Given the description of an element on the screen output the (x, y) to click on. 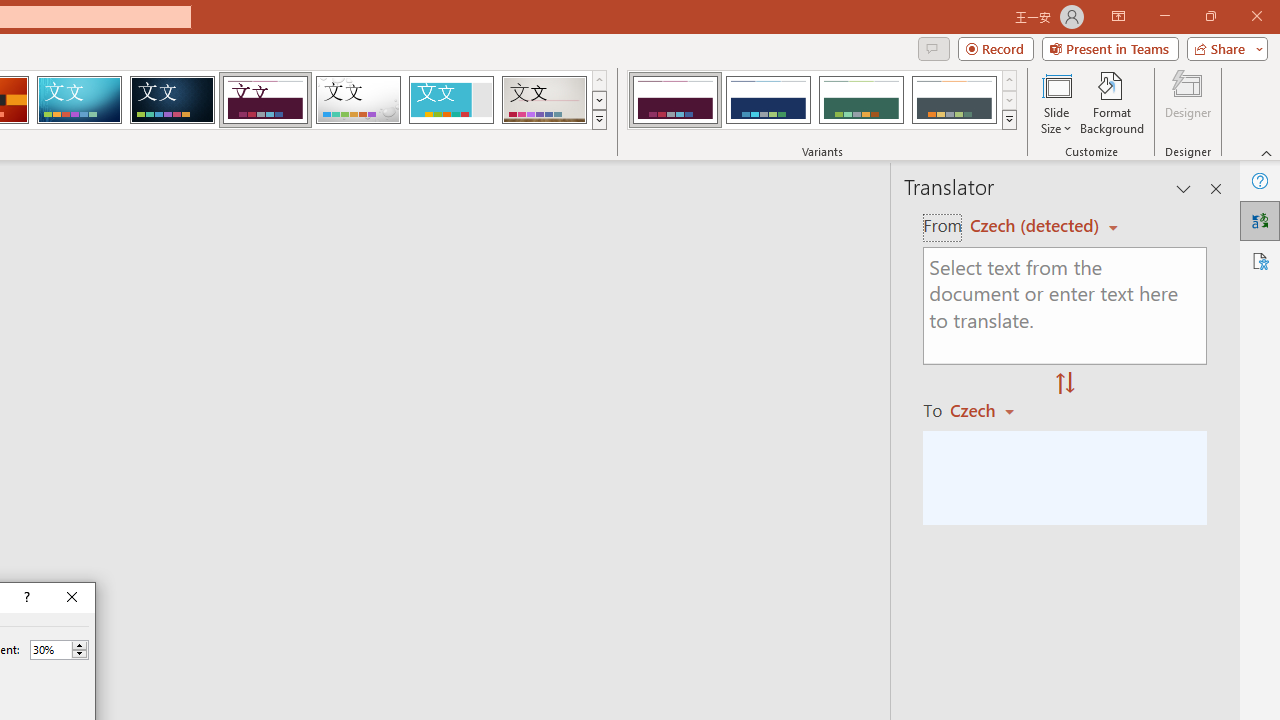
Dividend Variant 1 (674, 100)
Czech (detected) (1037, 225)
Percent (50, 649)
Frame (450, 100)
Circuit (79, 100)
